Given the description of an element on the screen output the (x, y) to click on. 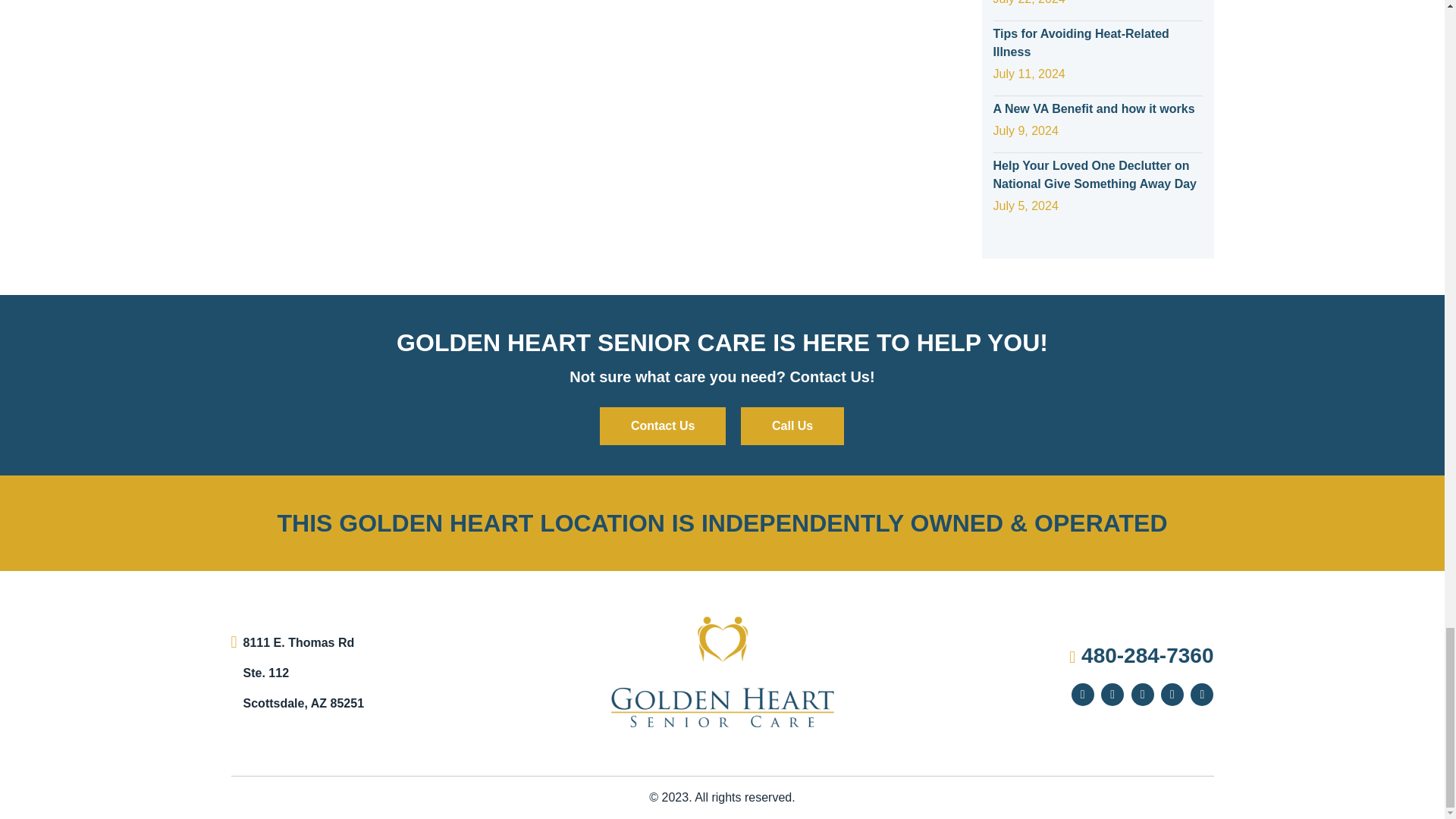
Contact Golden Heart Senior Care (662, 426)
Golden Heart Senior Care (721, 671)
